Given the description of an element on the screen output the (x, y) to click on. 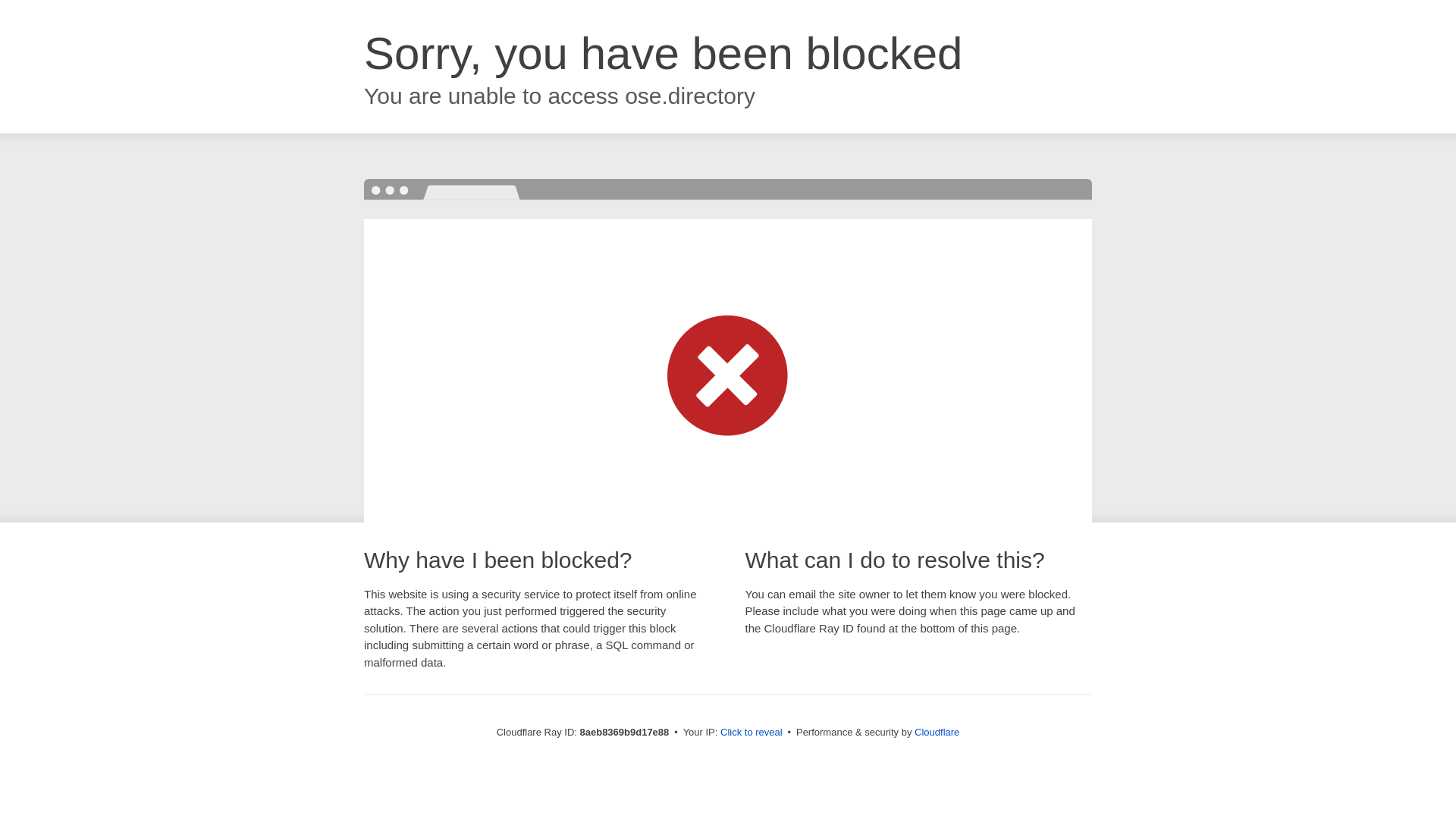
Click to reveal (751, 732)
Cloudflare (936, 731)
